Given the description of an element on the screen output the (x, y) to click on. 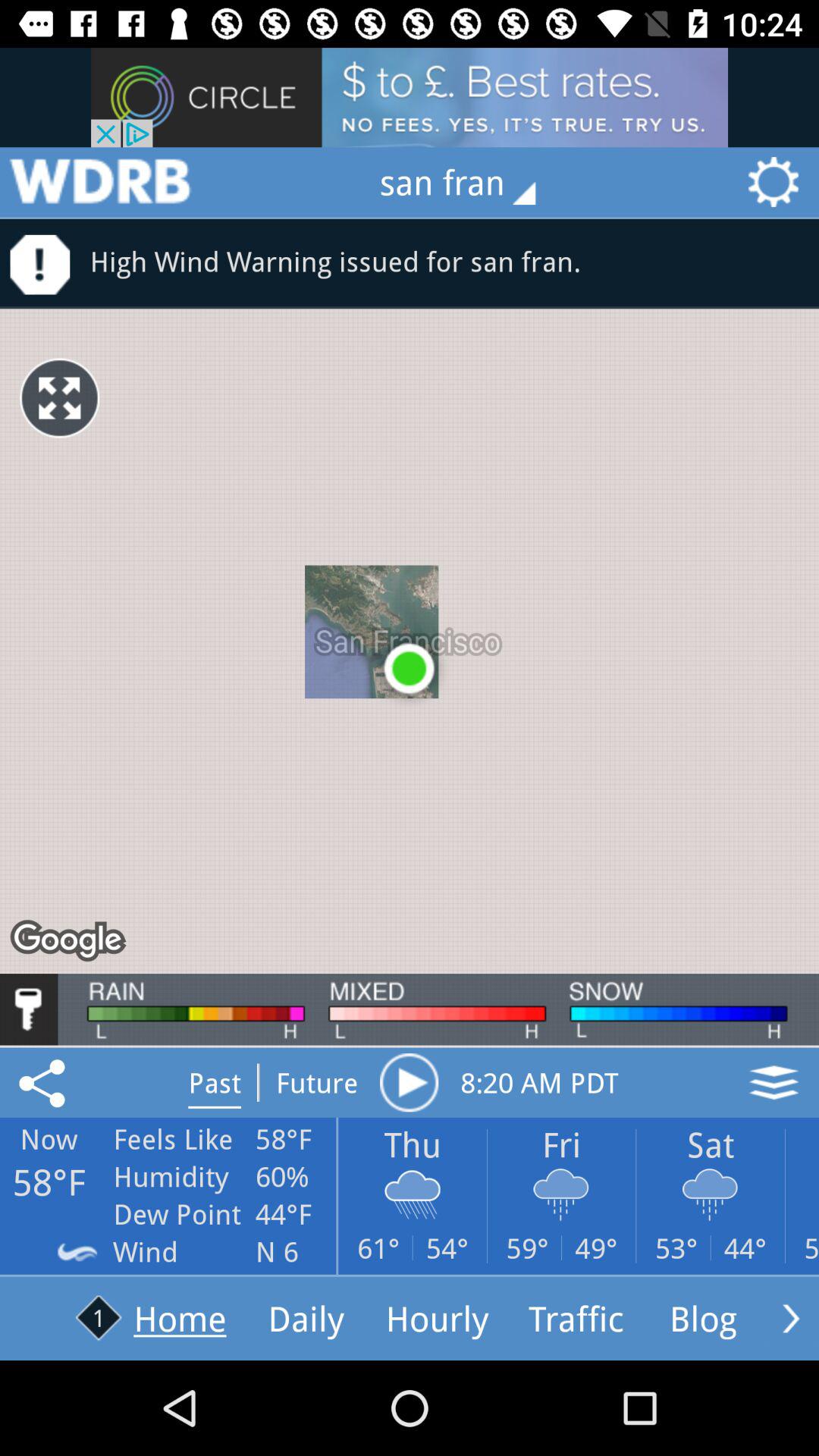
go to next (791, 1318)
